Given the description of an element on the screen output the (x, y) to click on. 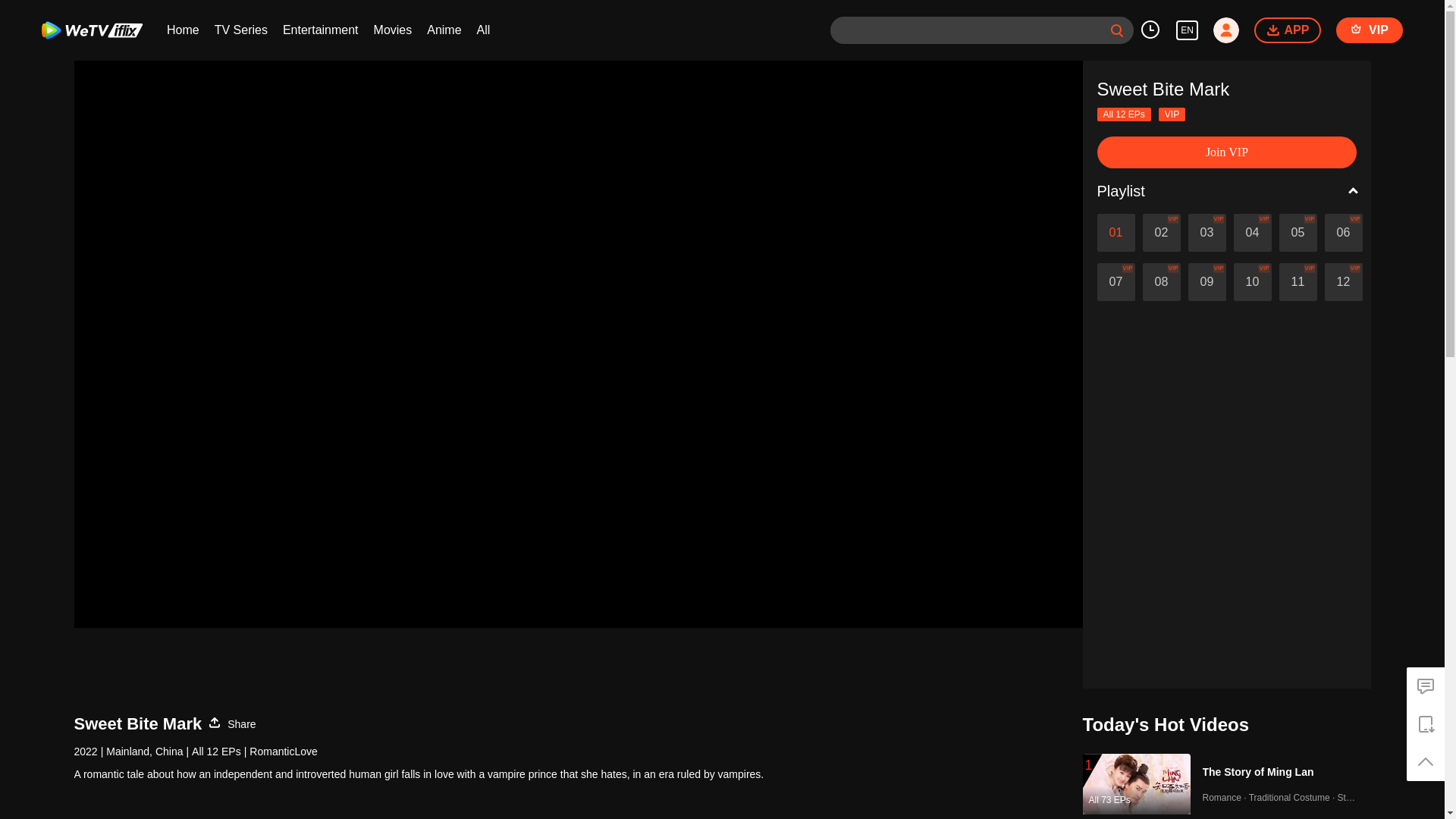
Movies (393, 30)
Anime (443, 30)
TV Series (240, 30)
VIP (1369, 30)
Entertainment (320, 30)
Join VIP (1226, 152)
